Given the description of an element on the screen output the (x, y) to click on. 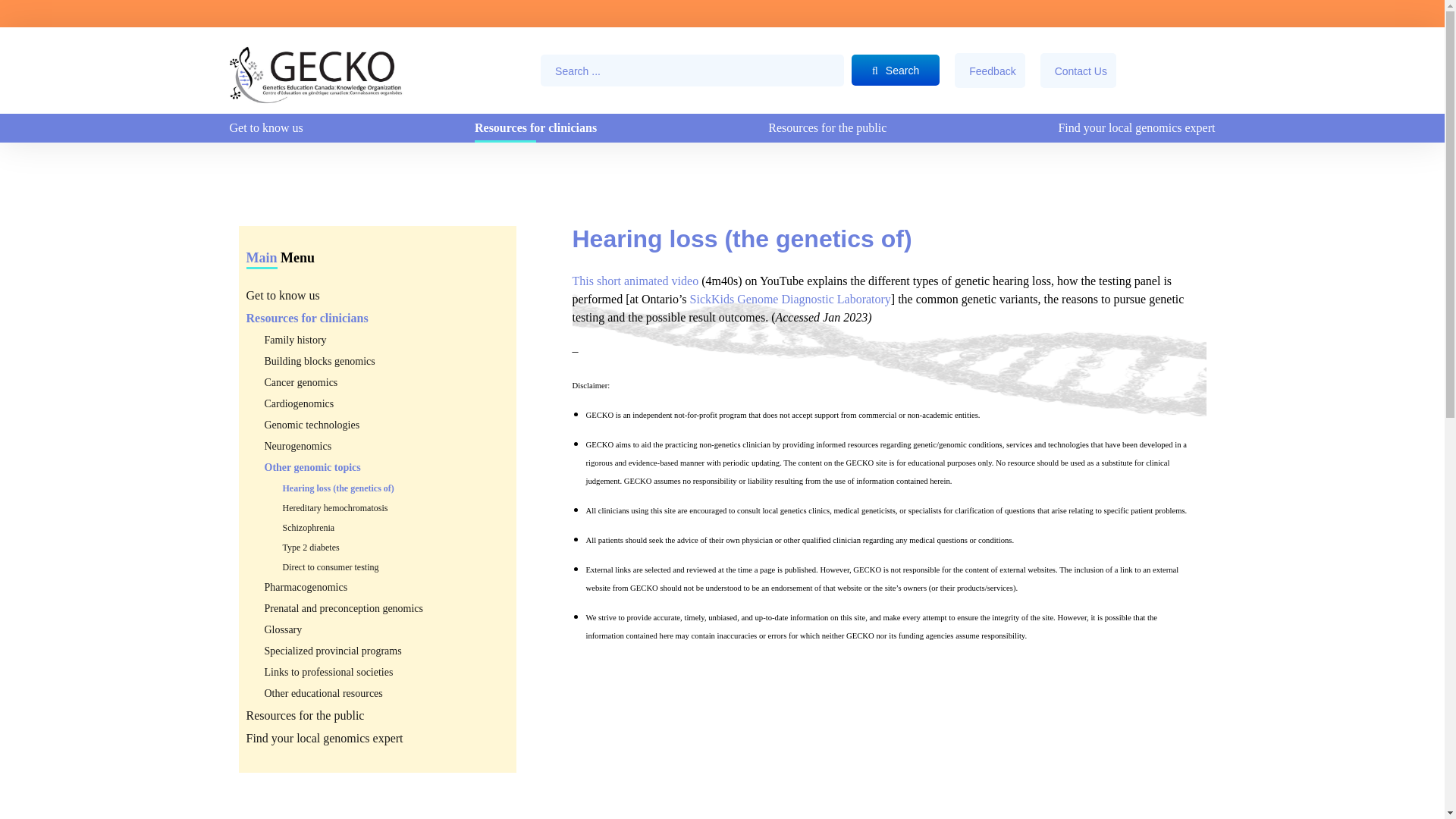
Get to know us (265, 127)
Contact Us (1078, 70)
Feedback (990, 70)
Resources for clinicians (535, 127)
Search (895, 69)
Contact Us (1078, 70)
Feedback (990, 70)
